Given the description of an element on the screen output the (x, y) to click on. 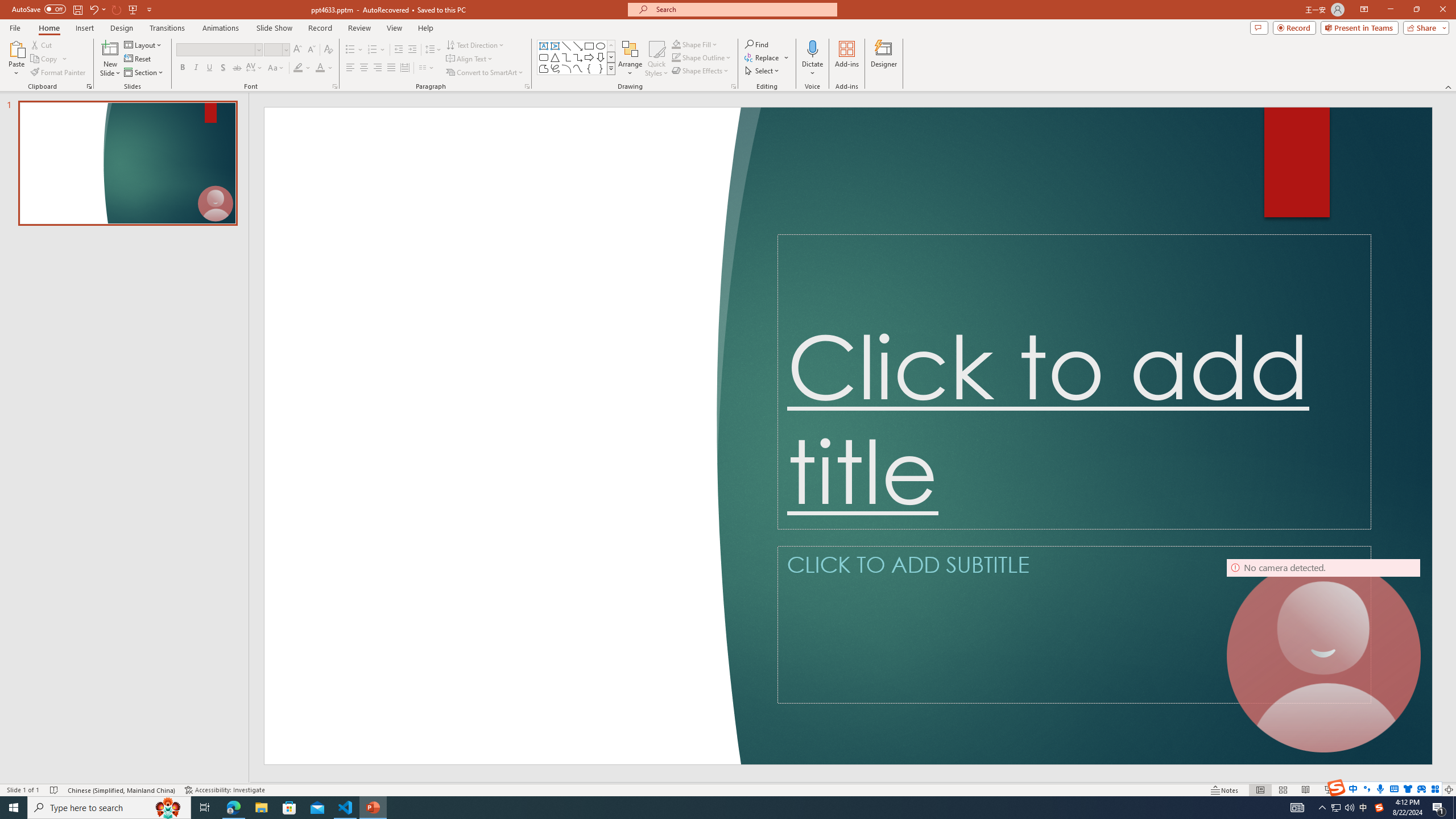
Shape Outline Dark Red, Accent 1 (675, 56)
